Given the description of an element on the screen output the (x, y) to click on. 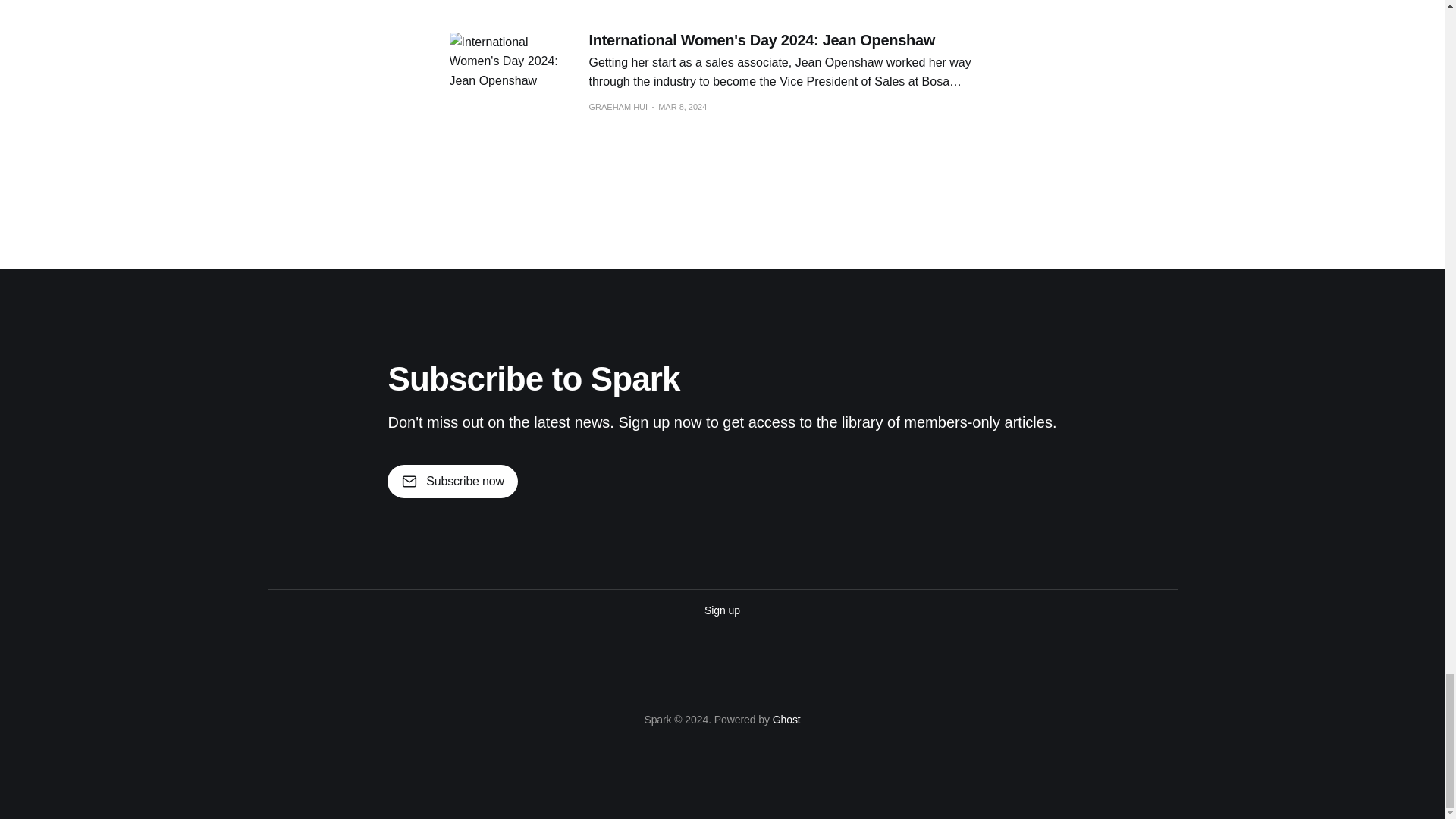
Subscribe now (452, 481)
Sign up (721, 610)
Ghost (786, 719)
